Given the description of an element on the screen output the (x, y) to click on. 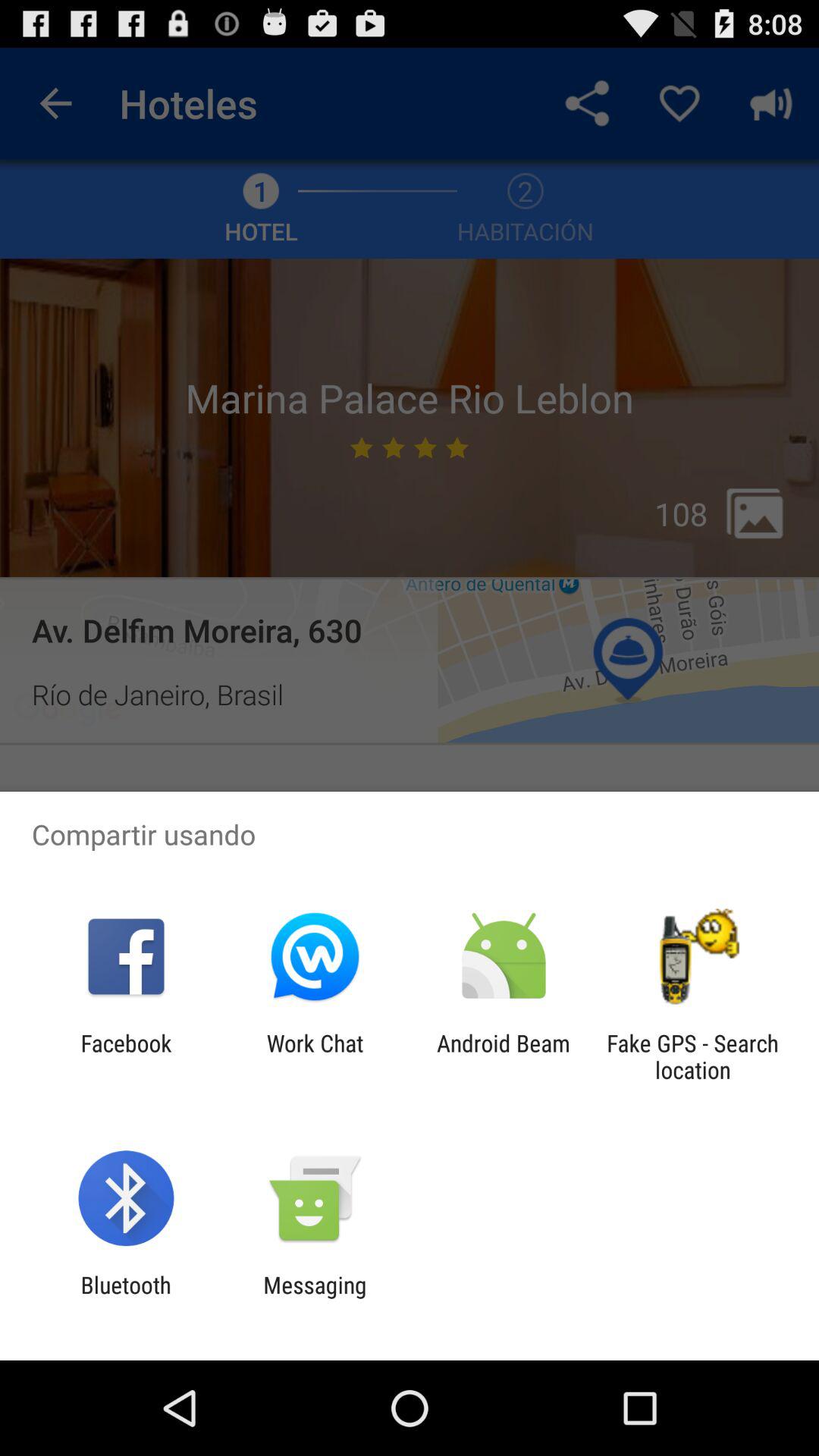
tap item to the right of bluetooth item (314, 1298)
